Given the description of an element on the screen output the (x, y) to click on. 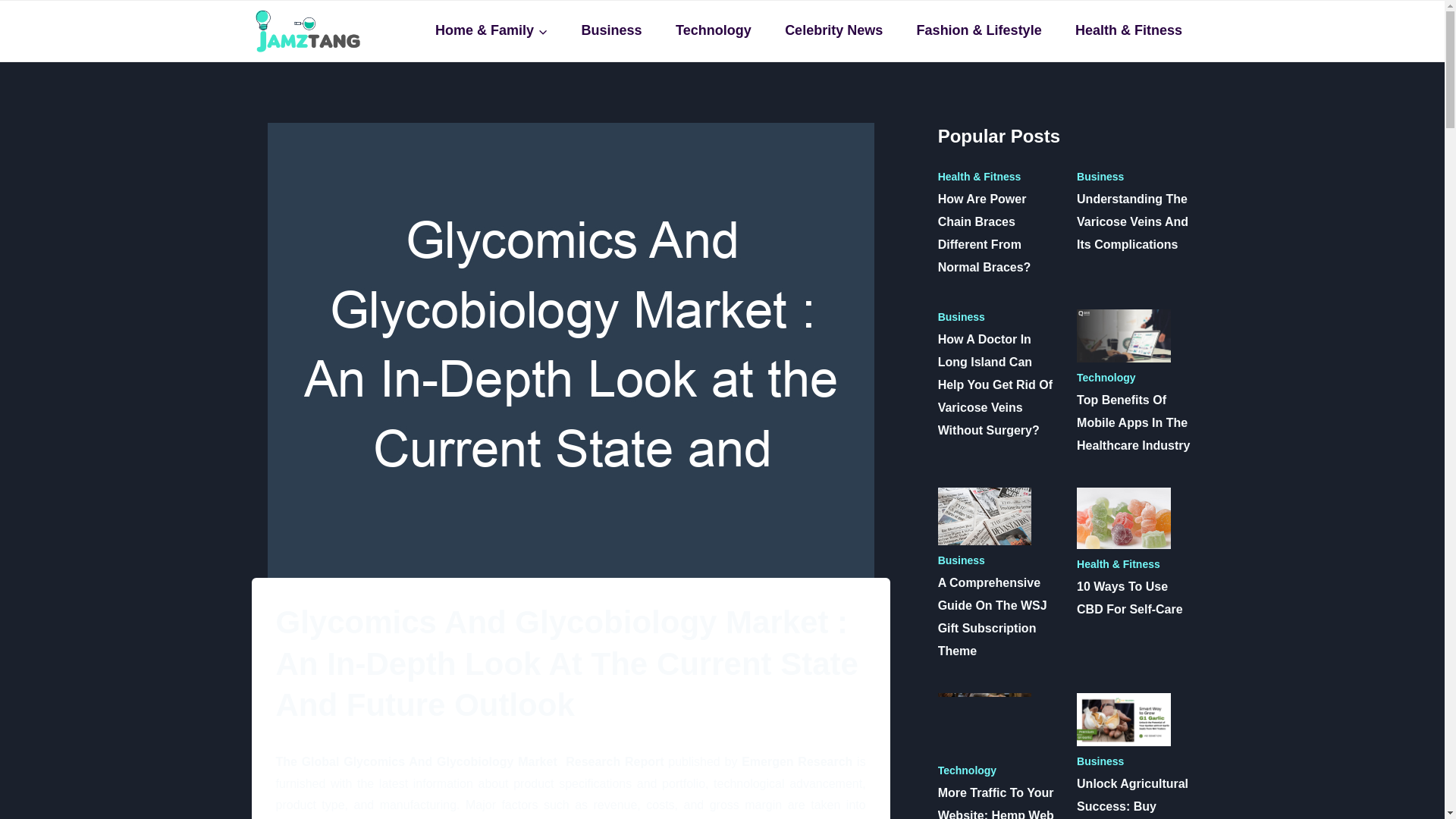
Business (611, 30)
More Traffic To Your Website: Hemp Web Design Strategy (983, 723)
Celebrity News (833, 30)
Top Benefits Of Mobile Apps In The Healthcare Industry (1123, 335)
A Comprehensive Guide On The Wsj Gift Subscription Theme (983, 516)
10 Ways To Use Cbd For Self-Care (1123, 518)
Technology (713, 30)
